Given the description of an element on the screen output the (x, y) to click on. 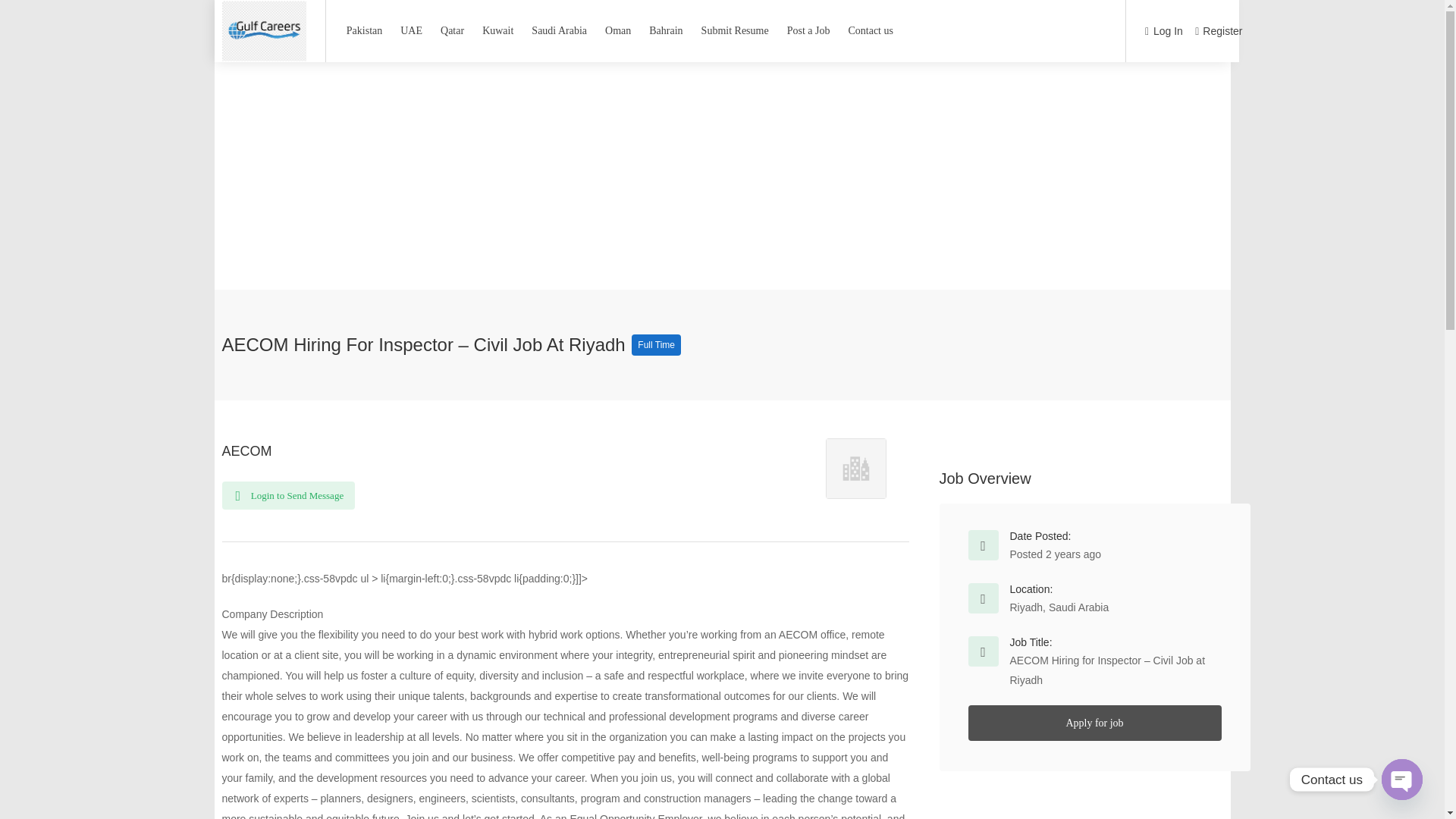
Kuwait (497, 30)
Submit Resume (735, 30)
Qatar (451, 30)
Contact us (870, 30)
UAE (410, 30)
Saudi Arabia (558, 30)
Oman (617, 30)
Bahrain (665, 30)
Post a Job (808, 30)
Pakistan (363, 30)
Login to Send Message (288, 495)
